Given the description of an element on the screen output the (x, y) to click on. 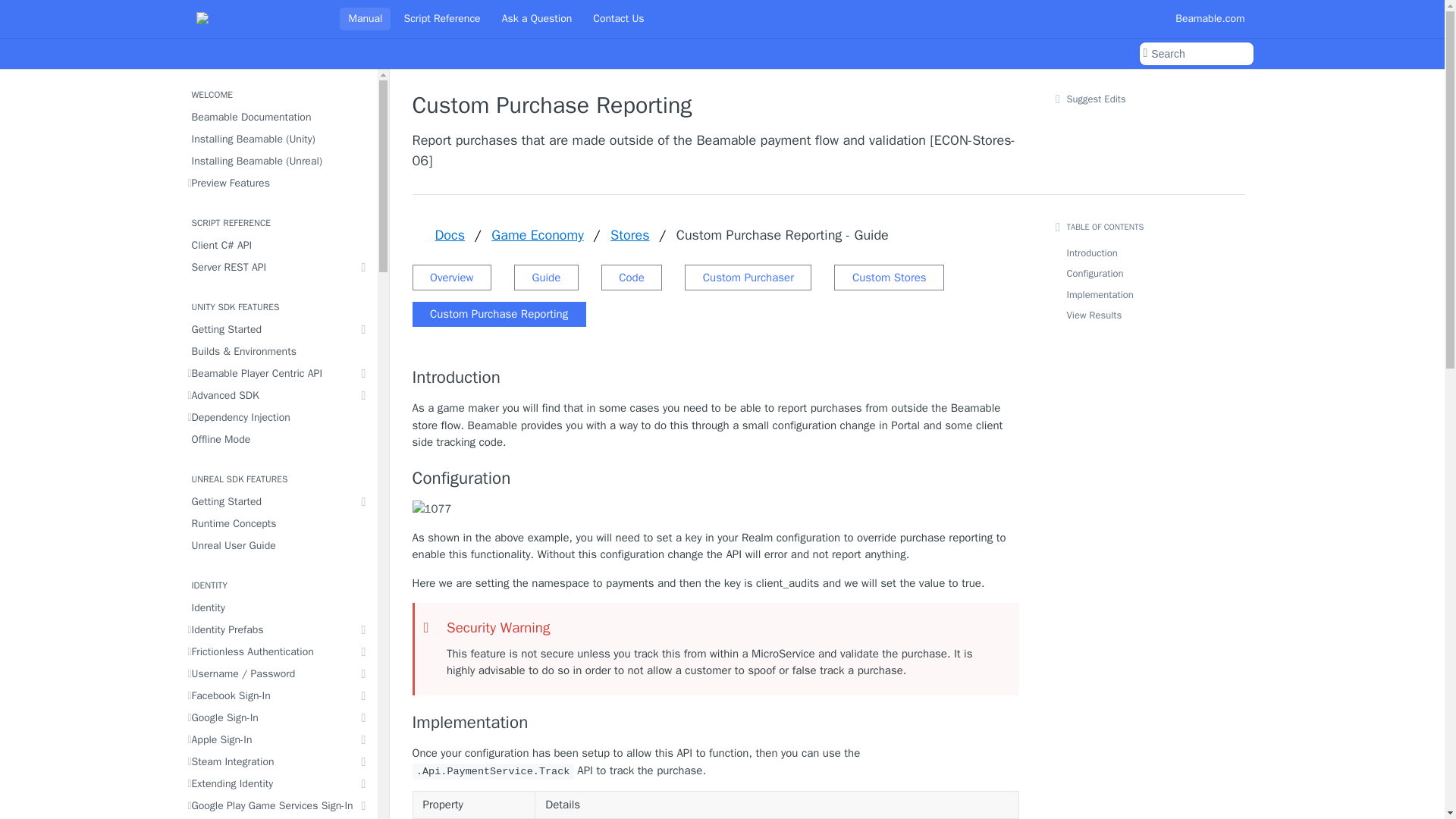
Preview Features (277, 182)
Advanced SDK (277, 394)
Beamable Documentation (277, 117)
Getting Started (277, 329)
Introduction (715, 377)
Manual (364, 18)
Server REST API (277, 267)
Script Reference (440, 18)
Configuration (715, 477)
Beamable.com (1209, 18)
Contact Us (618, 18)
Search (1195, 53)
Ask a Question (536, 18)
Dependency Injection (277, 417)
Beamable Player Centric API (277, 373)
